Given the description of an element on the screen output the (x, y) to click on. 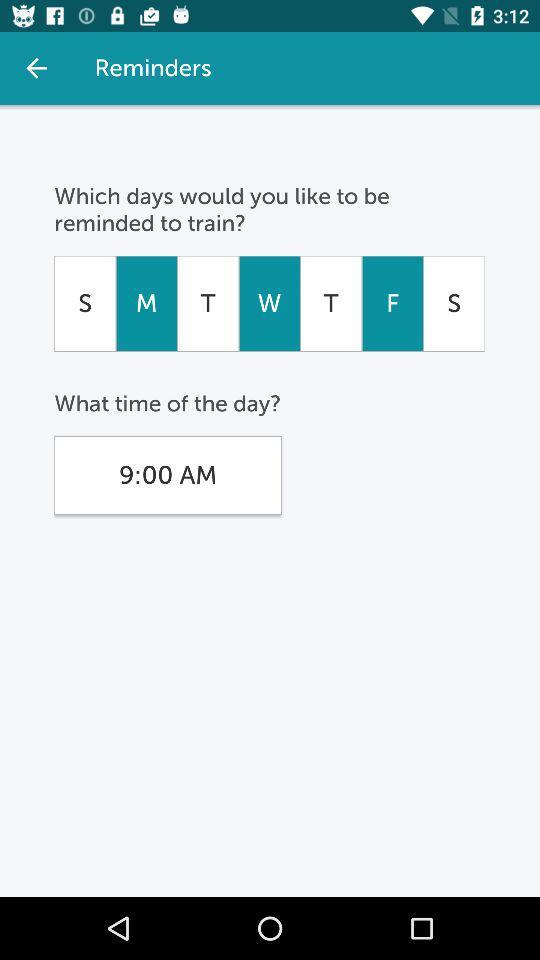
choose item next to t (392, 303)
